Given the description of an element on the screen output the (x, y) to click on. 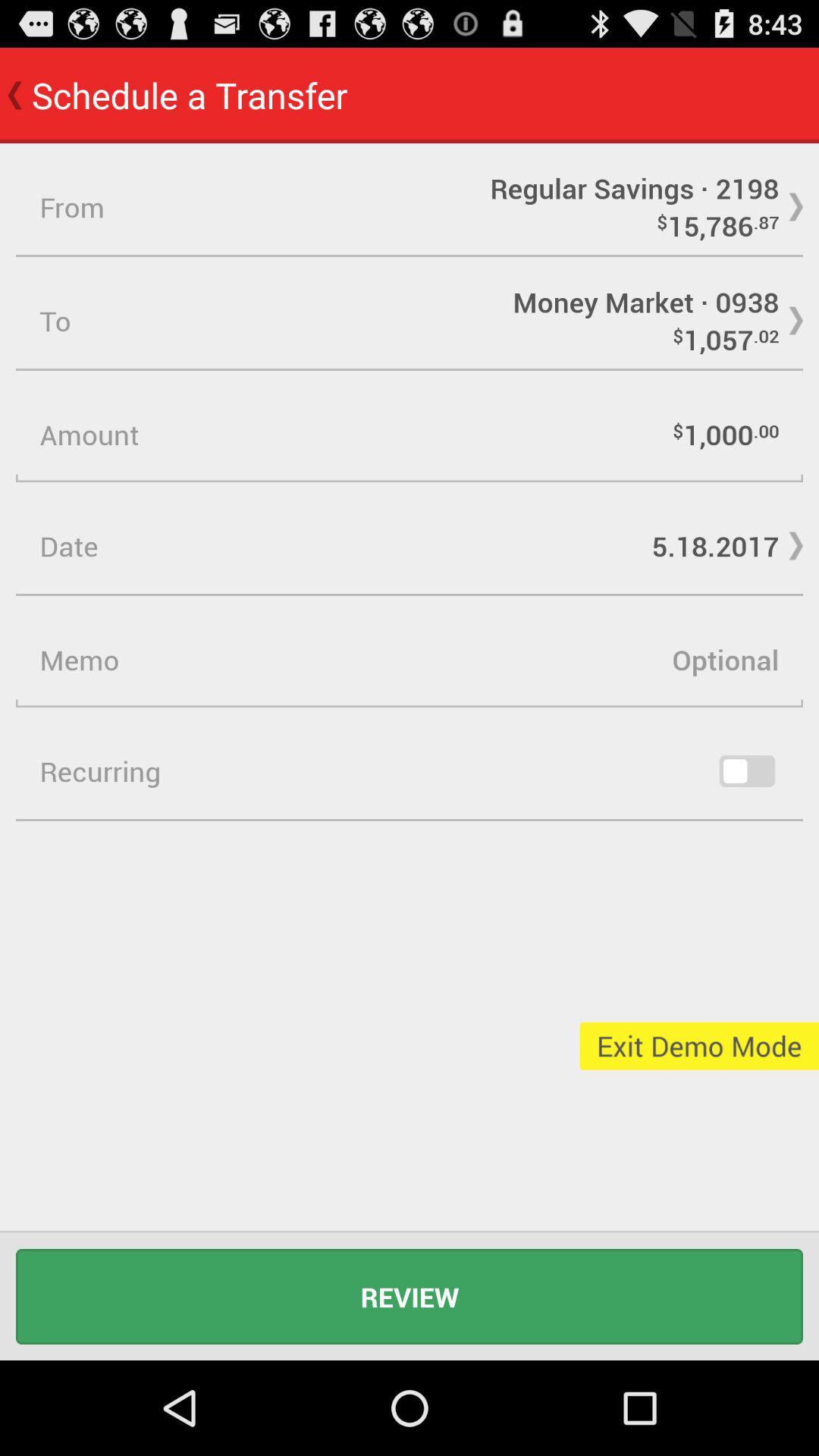
active/deactive this option (747, 771)
